Given the description of an element on the screen output the (x, y) to click on. 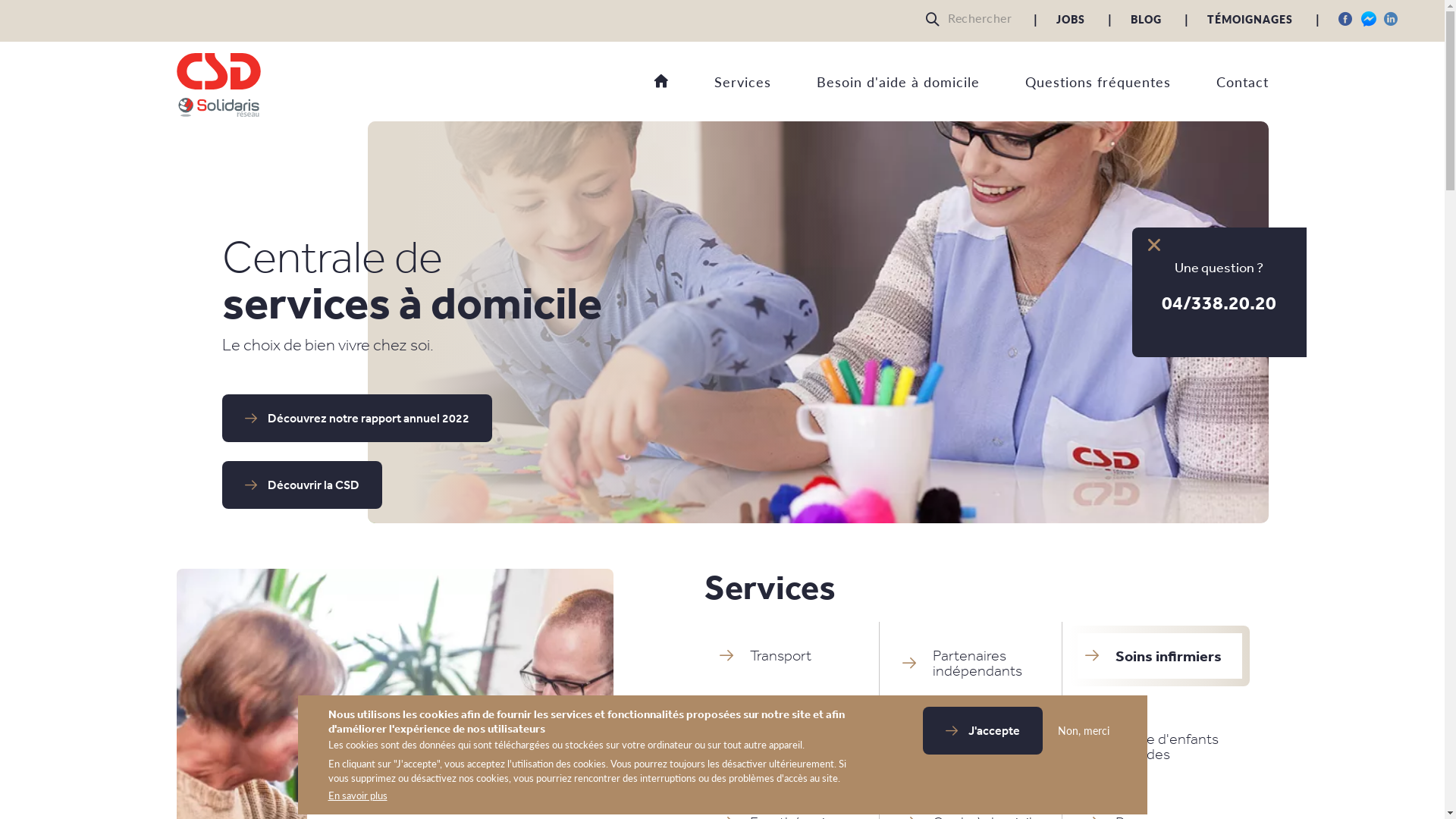
J'accepte Element type: text (981, 730)
Transport Element type: text (785, 655)
Contact Element type: text (1219, 85)
Facebook Element type: text (1345, 18)
Soins infirmiers Element type: text (1152, 655)
Apply Element type: text (936, 18)
Garde d'enfants malades Element type: text (1152, 746)
04/338.20.20 Element type: text (1218, 301)
LinkedIn Element type: text (1391, 18)
Services Element type: text (719, 85)
BLOG Element type: text (1145, 18)
Accueil Element type: text (660, 81)
Aller au contenu principal Element type: text (0, 121)
Centre de coordination Element type: text (969, 746)
Messenger Element type: text (1368, 18)
JOBS Element type: text (1070, 18)
En savoir plus Element type: text (356, 796)
Non, merci Element type: text (1078, 730)
